Given the description of an element on the screen output the (x, y) to click on. 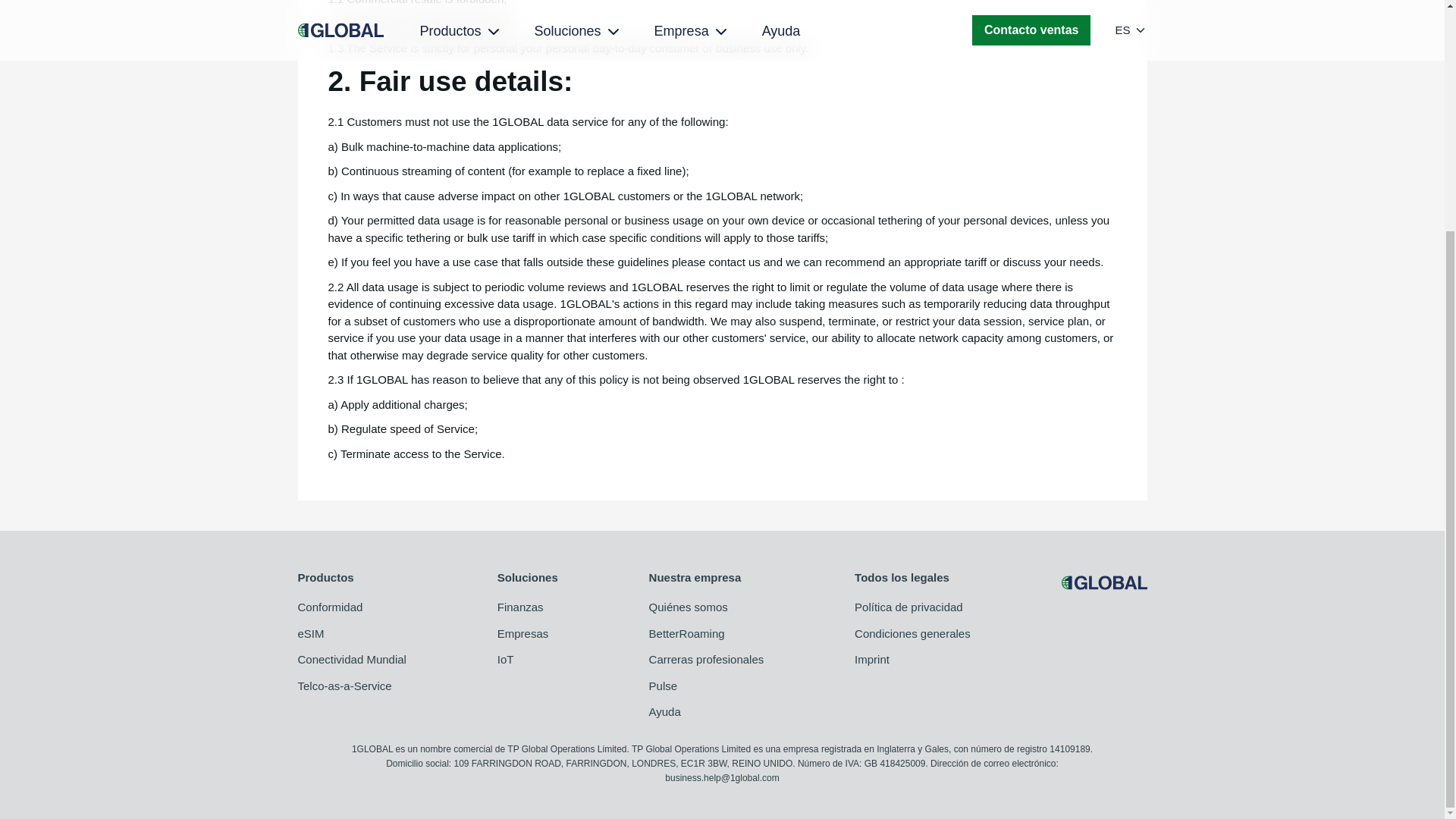
Telco-as-a-Service (351, 686)
Ayuda (706, 712)
Imprint (912, 660)
Conectividad Mundial (351, 660)
IoT (527, 660)
Finanzas (527, 607)
Empresas (527, 633)
eSIM (351, 633)
Carreras profesionales (706, 660)
Soluciones (527, 577)
